Given the description of an element on the screen output the (x, y) to click on. 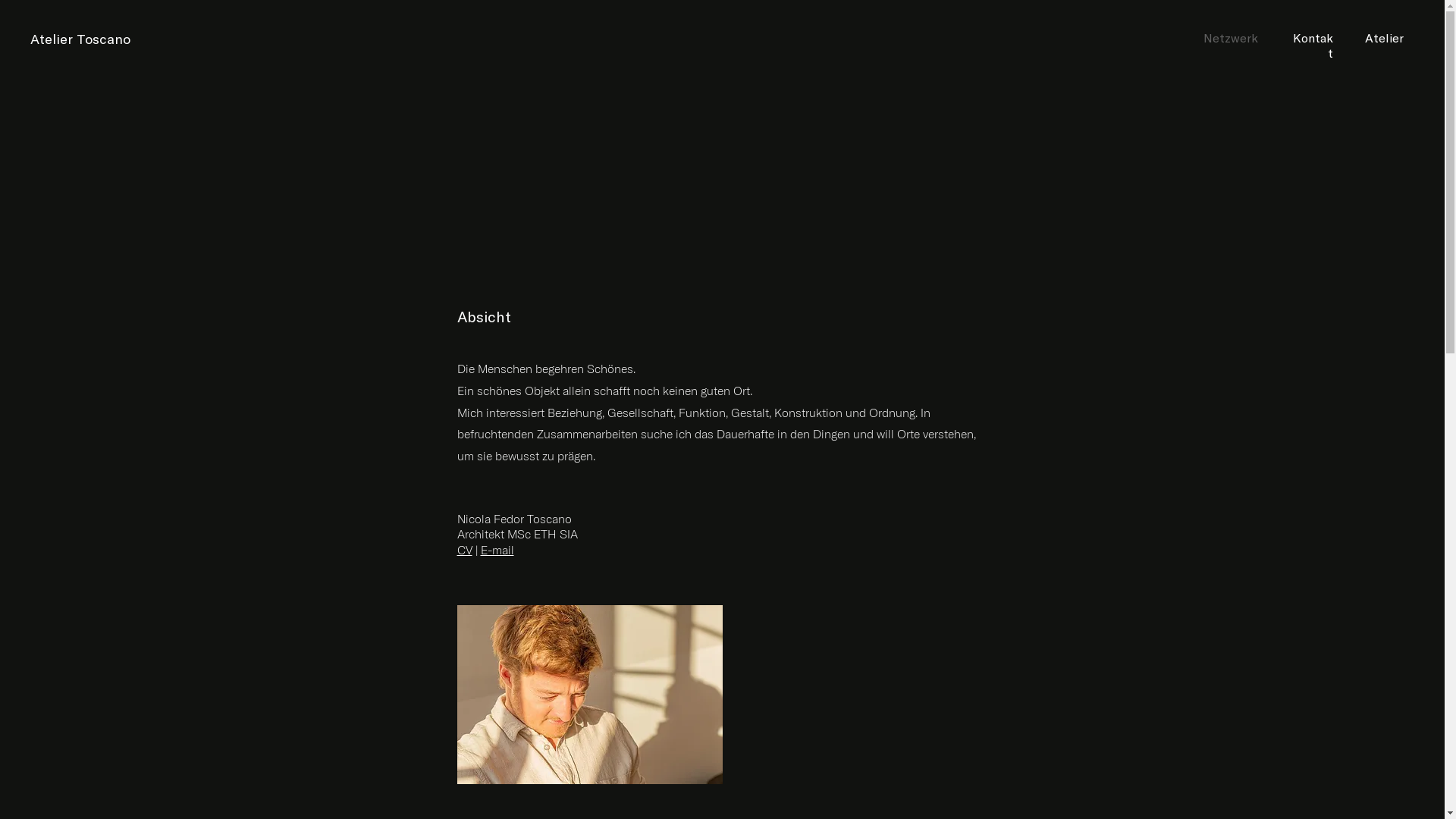
CV Element type: text (463, 549)
E-mail Element type: text (497, 549)
Atelier Toscano Element type: text (80, 38)
Netzwerk Element type: text (1230, 37)
Kontakt Element type: text (1312, 45)
